Given the description of an element on the screen output the (x, y) to click on. 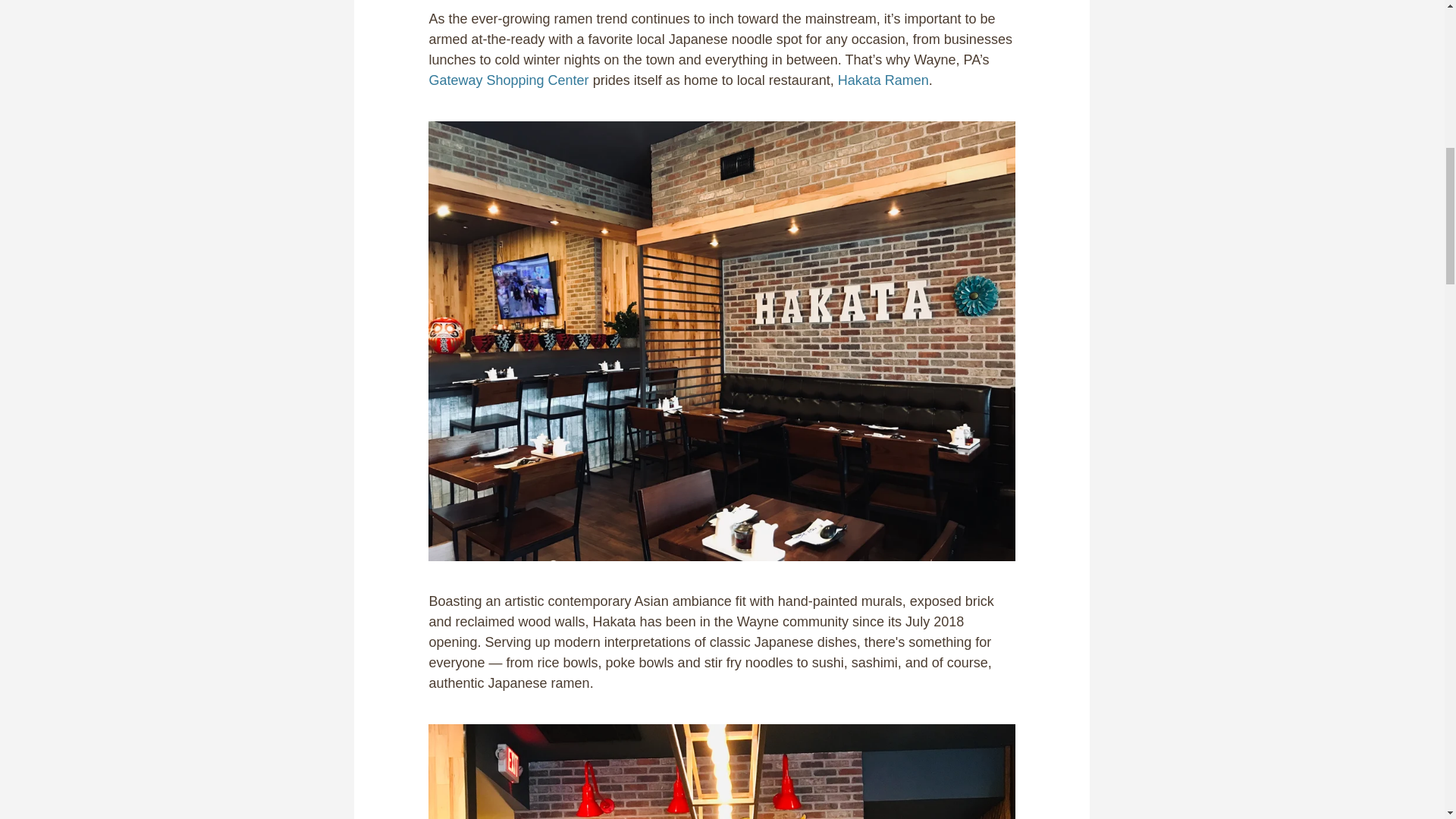
Hakata Ramen (883, 79)
Gateway Shopping Center (508, 79)
